Given the description of an element on the screen output the (x, y) to click on. 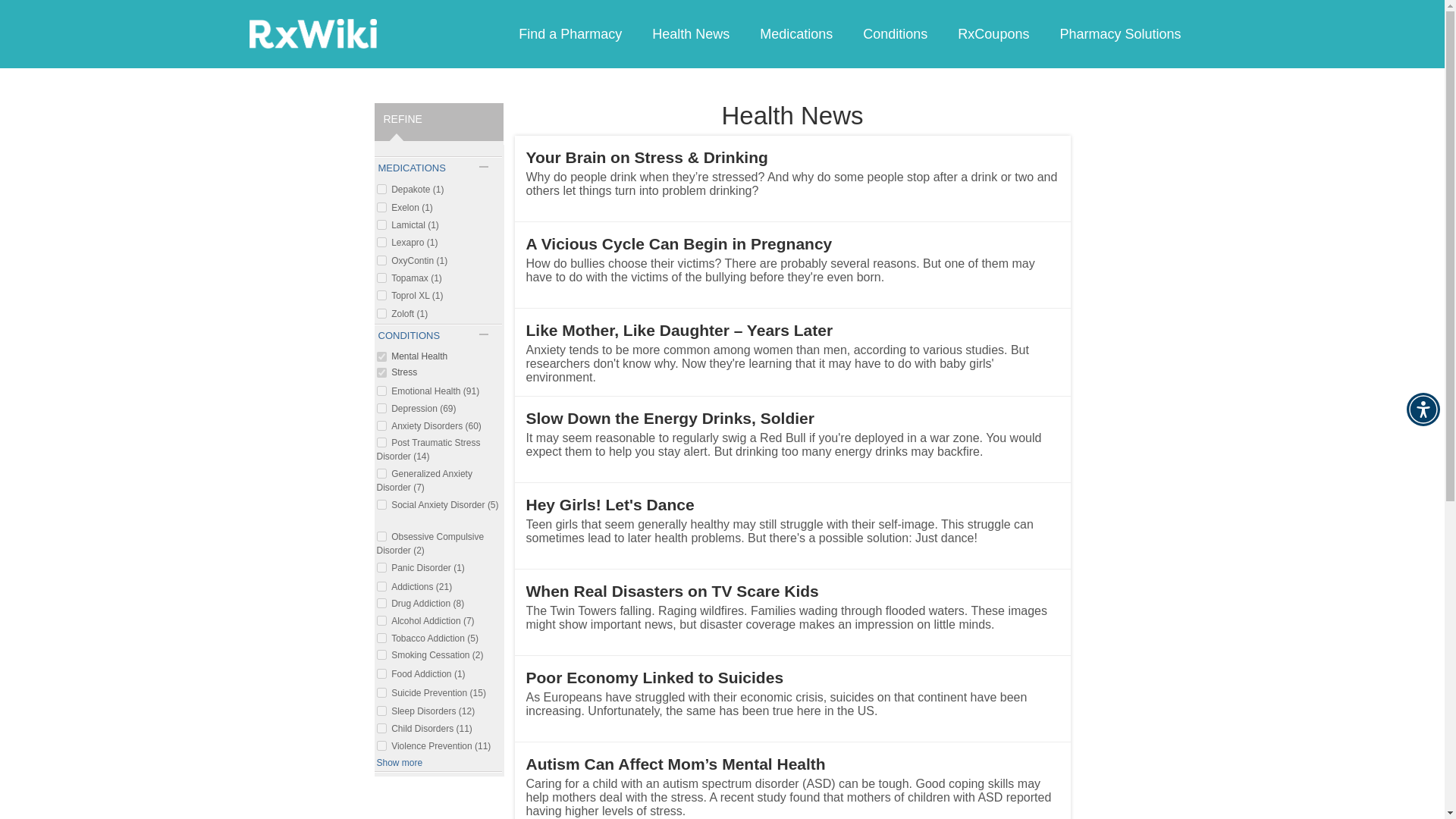
on (380, 313)
Pharmacy Solutions (1119, 33)
Health News (690, 33)
on (380, 225)
on (380, 425)
on (380, 442)
RxWiki (312, 32)
on (380, 603)
on (380, 356)
RxCoupons (992, 33)
on (380, 260)
on (380, 372)
Find a Pharmacy (570, 33)
